Given the description of an element on the screen output the (x, y) to click on. 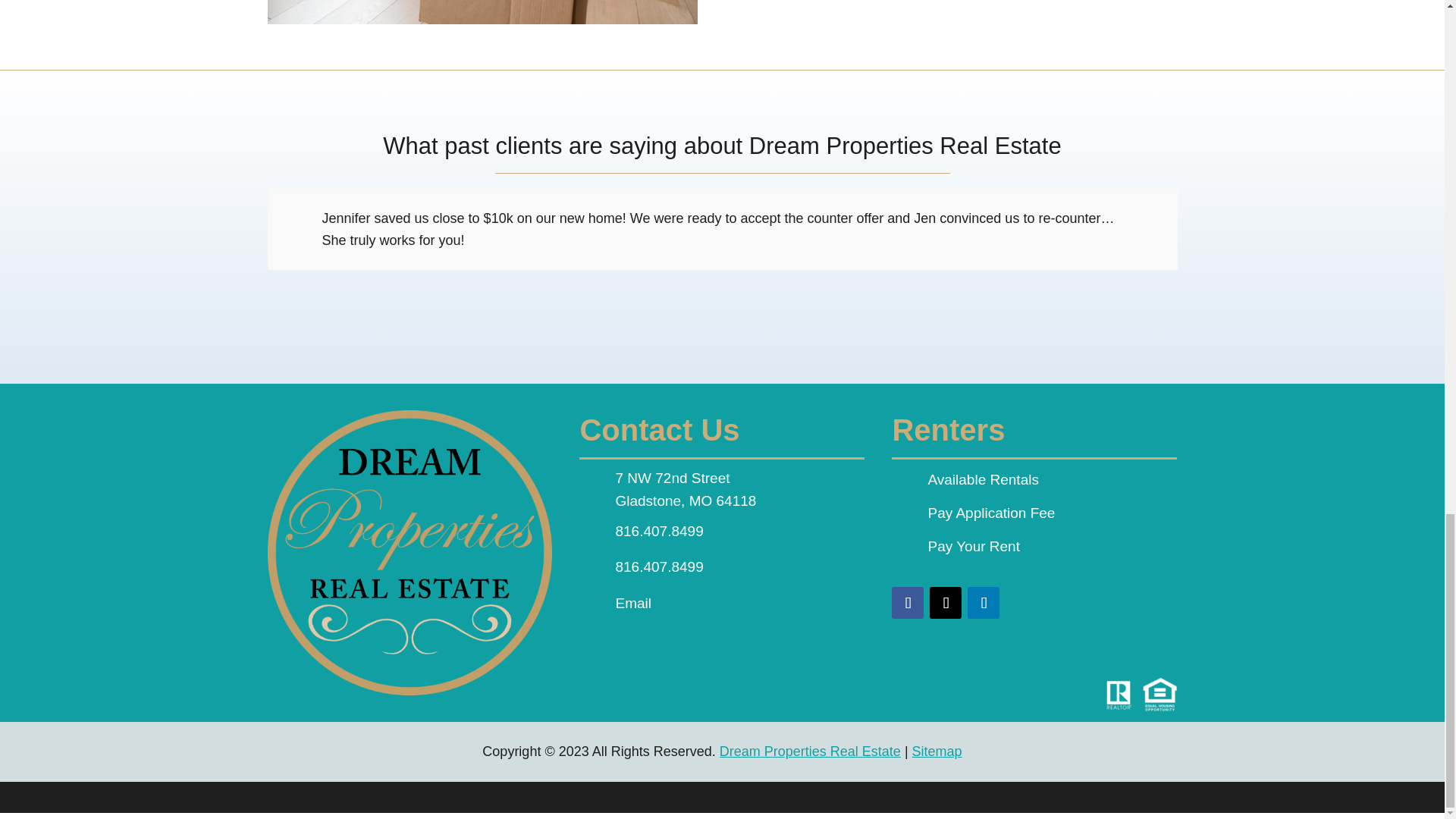
816.407.8499 (658, 566)
Dream Properties Real Estate (810, 751)
Sitemap (937, 751)
Stamp Transparent (408, 552)
Follow on X (945, 603)
Follow on Facebook (907, 603)
816.407.8499 (658, 530)
Follow on LinkedIn (983, 603)
